Given the description of an element on the screen output the (x, y) to click on. 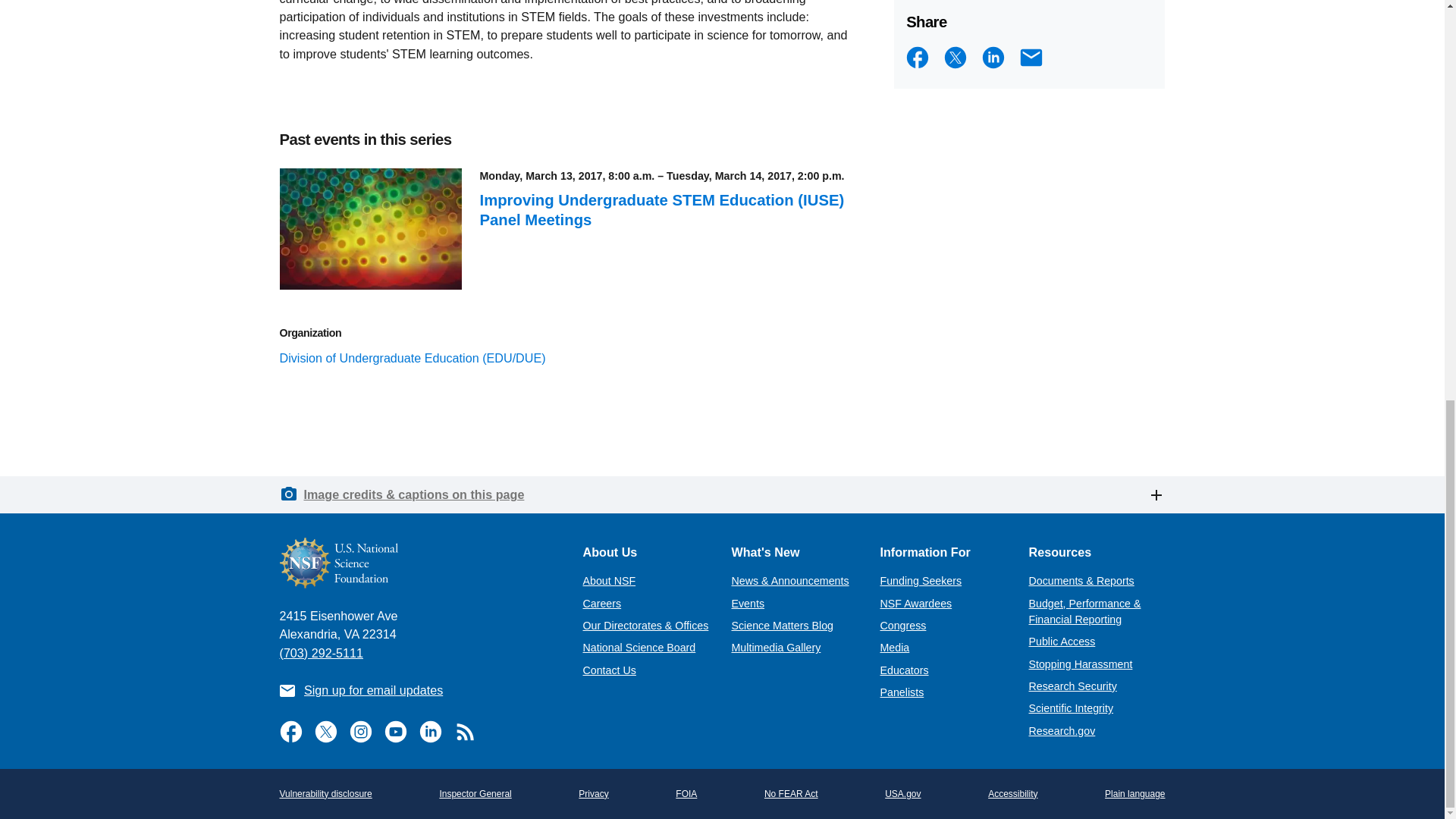
About NSF (608, 580)
Facebook (917, 57)
Sign up for email updates (373, 689)
NSF - National Science Foundation - Home (418, 562)
Careers (601, 603)
LinkedIn (992, 57)
Email (1030, 57)
National Science Board (638, 647)
